Given the description of an element on the screen output the (x, y) to click on. 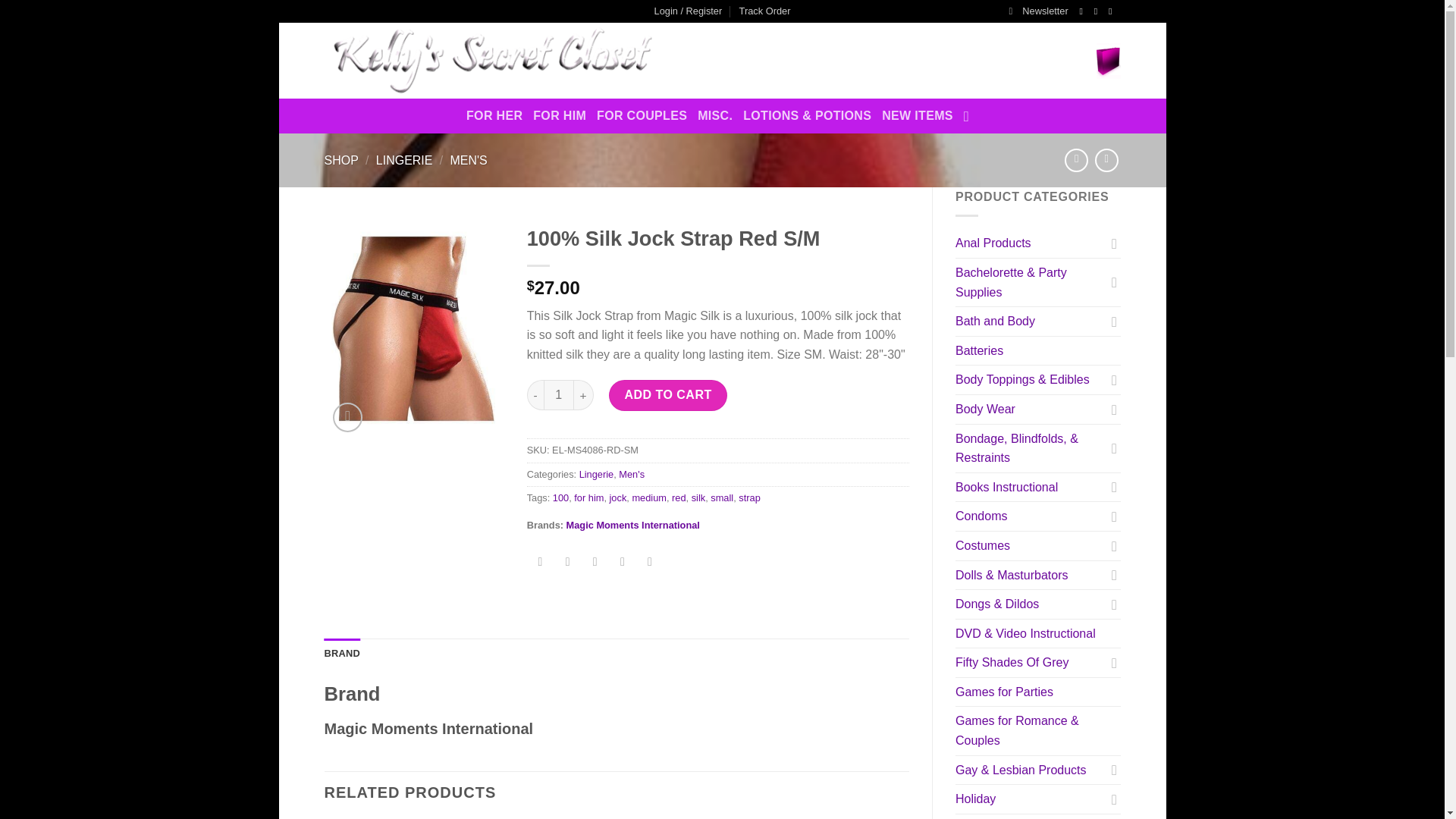
Kelly's Secret Closet (582, 60)
Share on LinkedIn (649, 562)
MEN'S (467, 160)
LINGERIE (403, 160)
Share on Twitter (566, 562)
FOR HER (493, 115)
FOR HIM (559, 115)
Track Order (764, 11)
Pin on Pinterest (622, 562)
1 (558, 395)
